Given the description of an element on the screen output the (x, y) to click on. 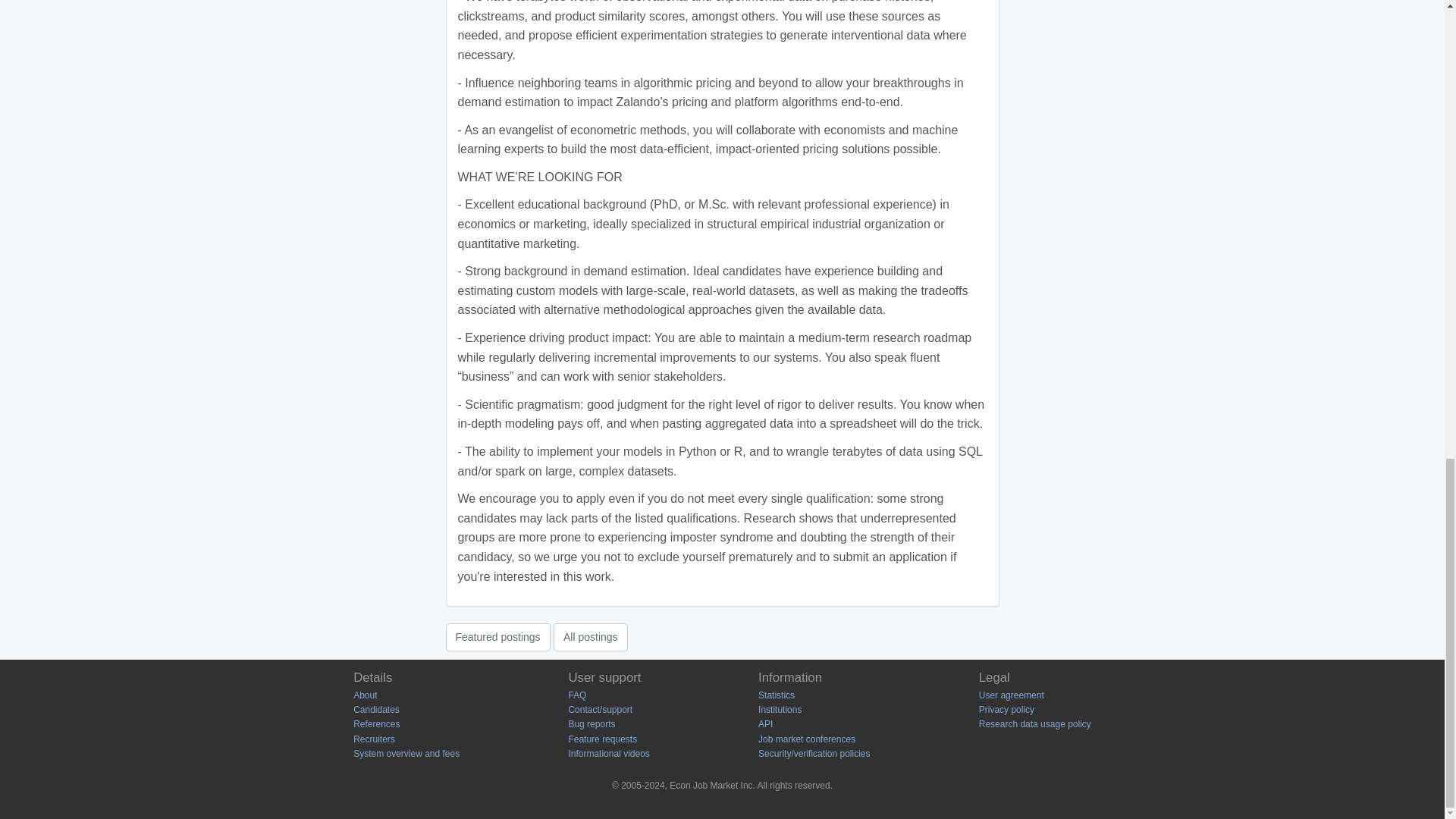
References (375, 724)
Bug reports (590, 724)
Job market conferences (807, 738)
Informational videos (608, 753)
FAQ (576, 695)
About (365, 695)
Candidates (375, 709)
User agreement (1010, 695)
Institutions (780, 709)
Privacy policy (1005, 709)
Recruiters (373, 738)
All postings (590, 636)
System overview and fees (406, 753)
Statistics (776, 695)
Featured postings (497, 636)
